Given the description of an element on the screen output the (x, y) to click on. 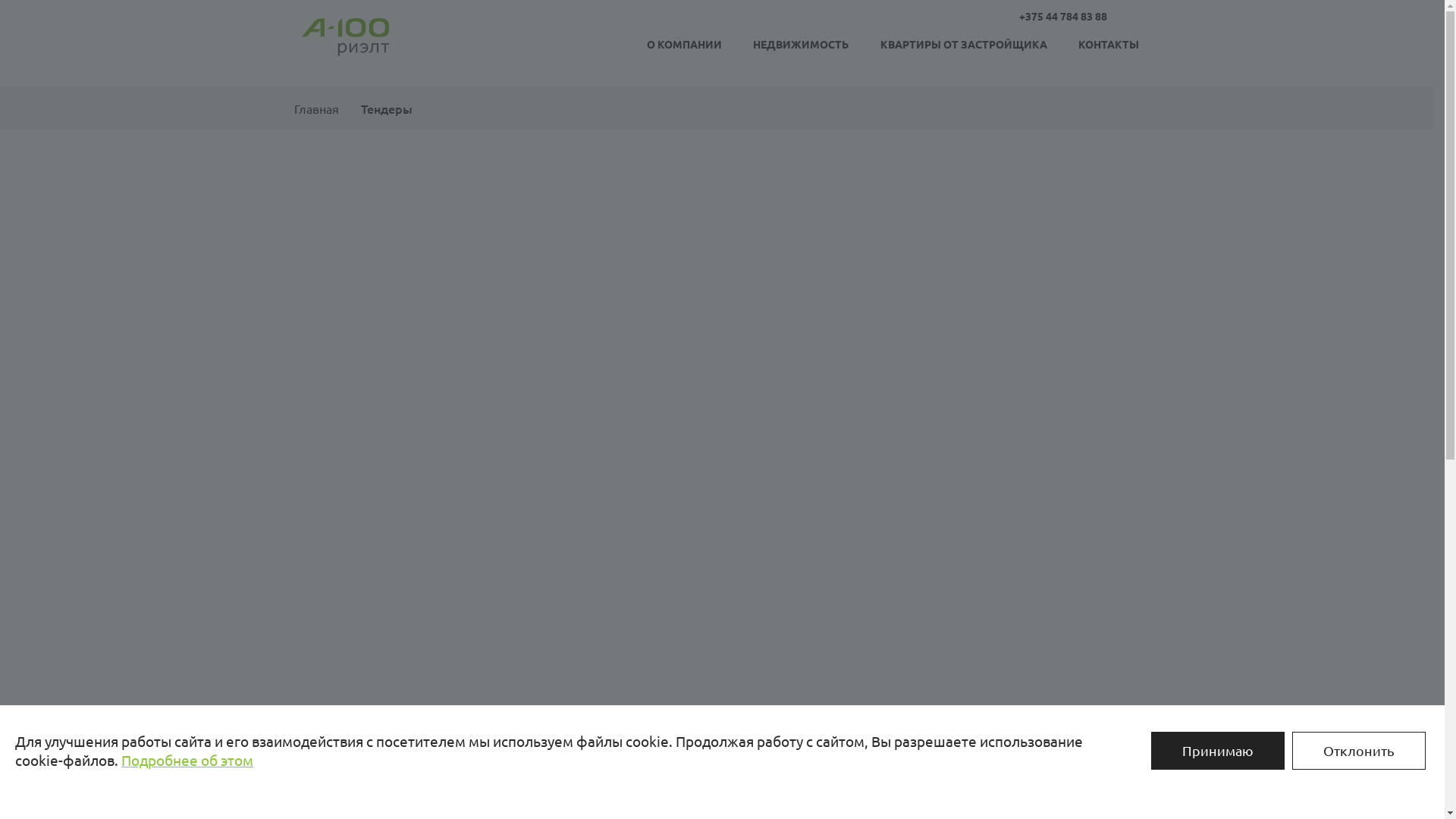
+375 44 784 83 88 Element type: text (1063, 15)
